Given the description of an element on the screen output the (x, y) to click on. 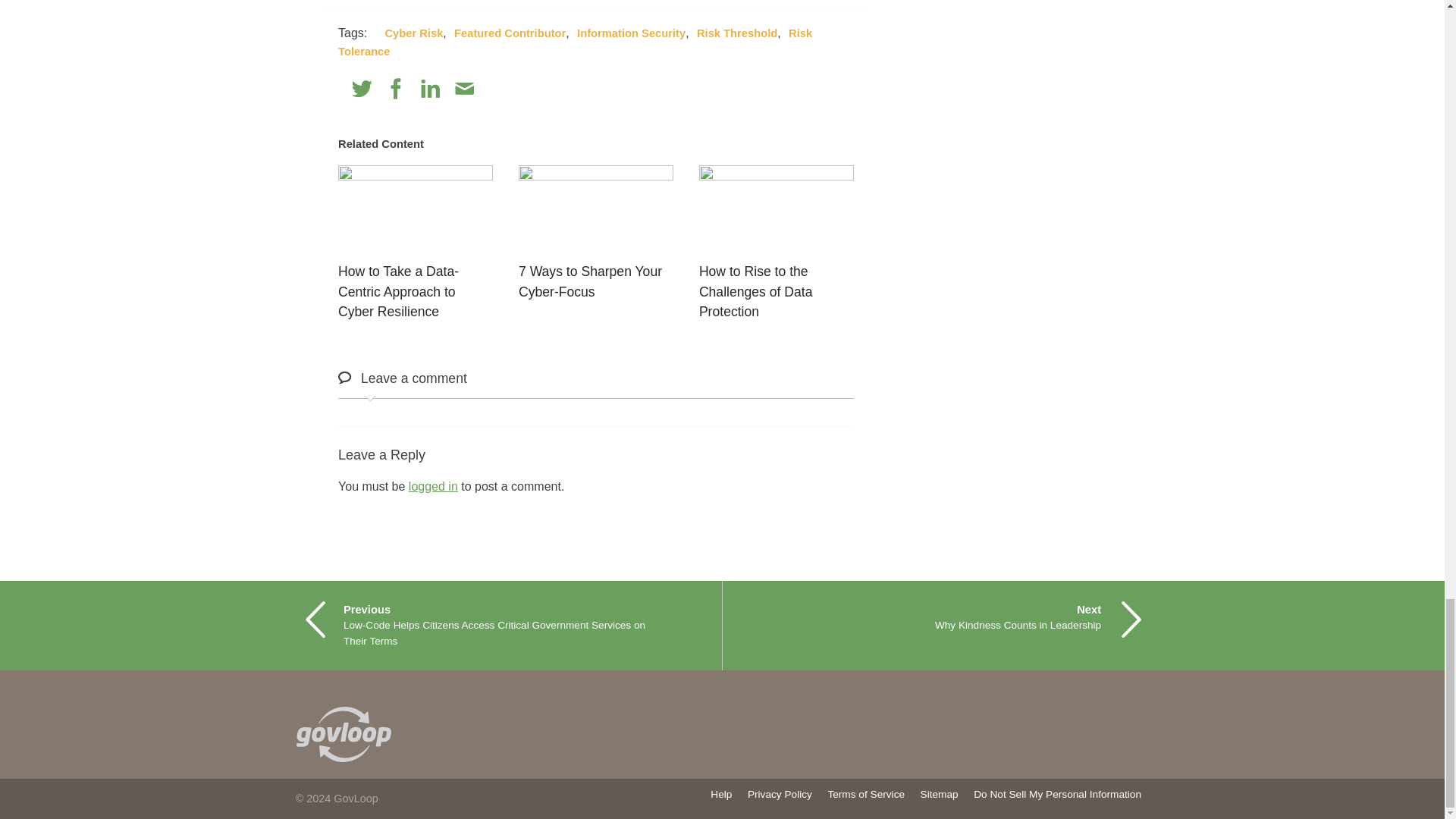
Print (497, 88)
Facebook (395, 88)
Linkedin (430, 88)
Email (464, 88)
Twitter (362, 88)
